Given the description of an element on the screen output the (x, y) to click on. 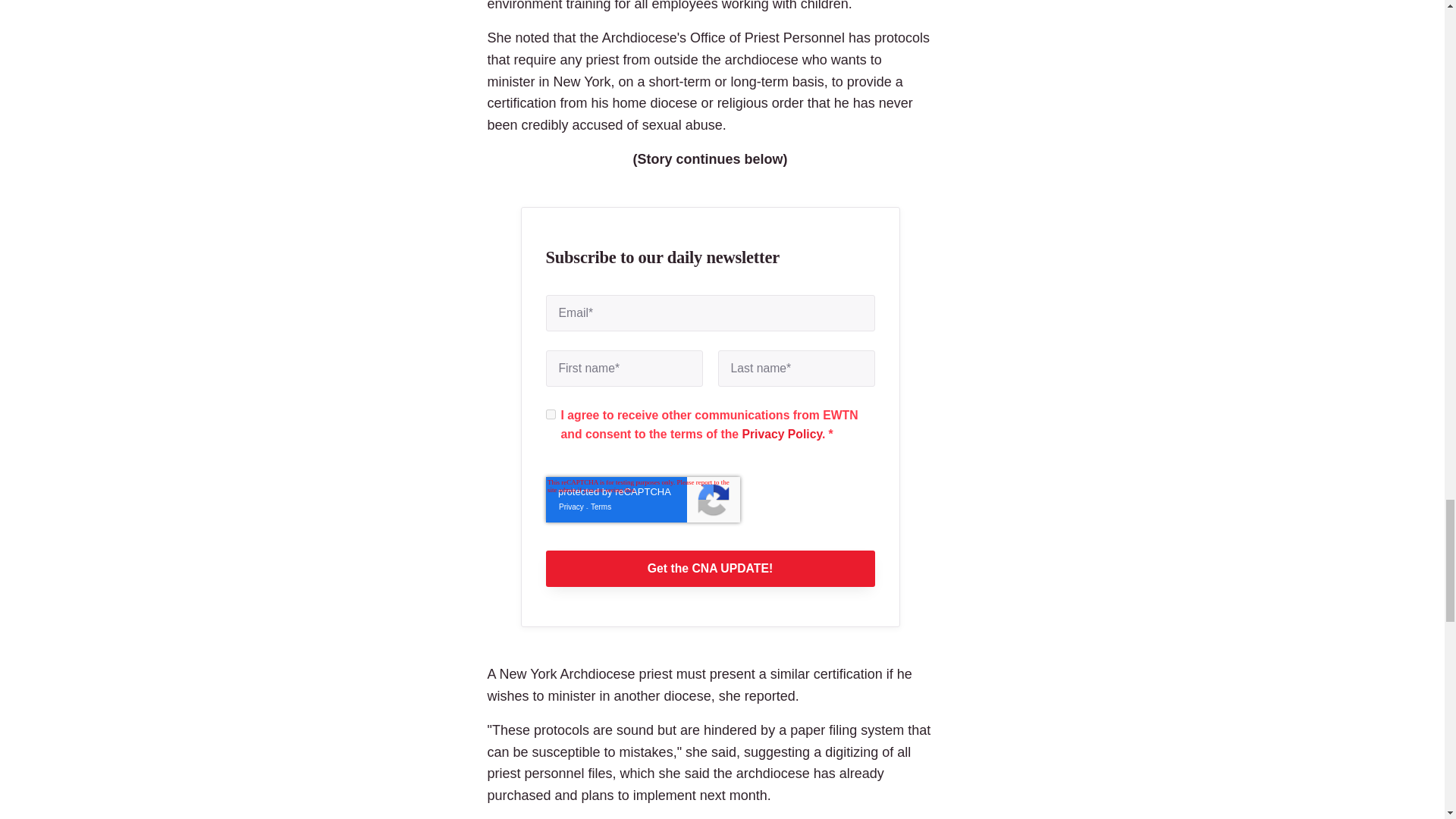
reCAPTCHA (642, 499)
Get the CNA UPDATE! (710, 568)
true (551, 414)
